Given the description of an element on the screen output the (x, y) to click on. 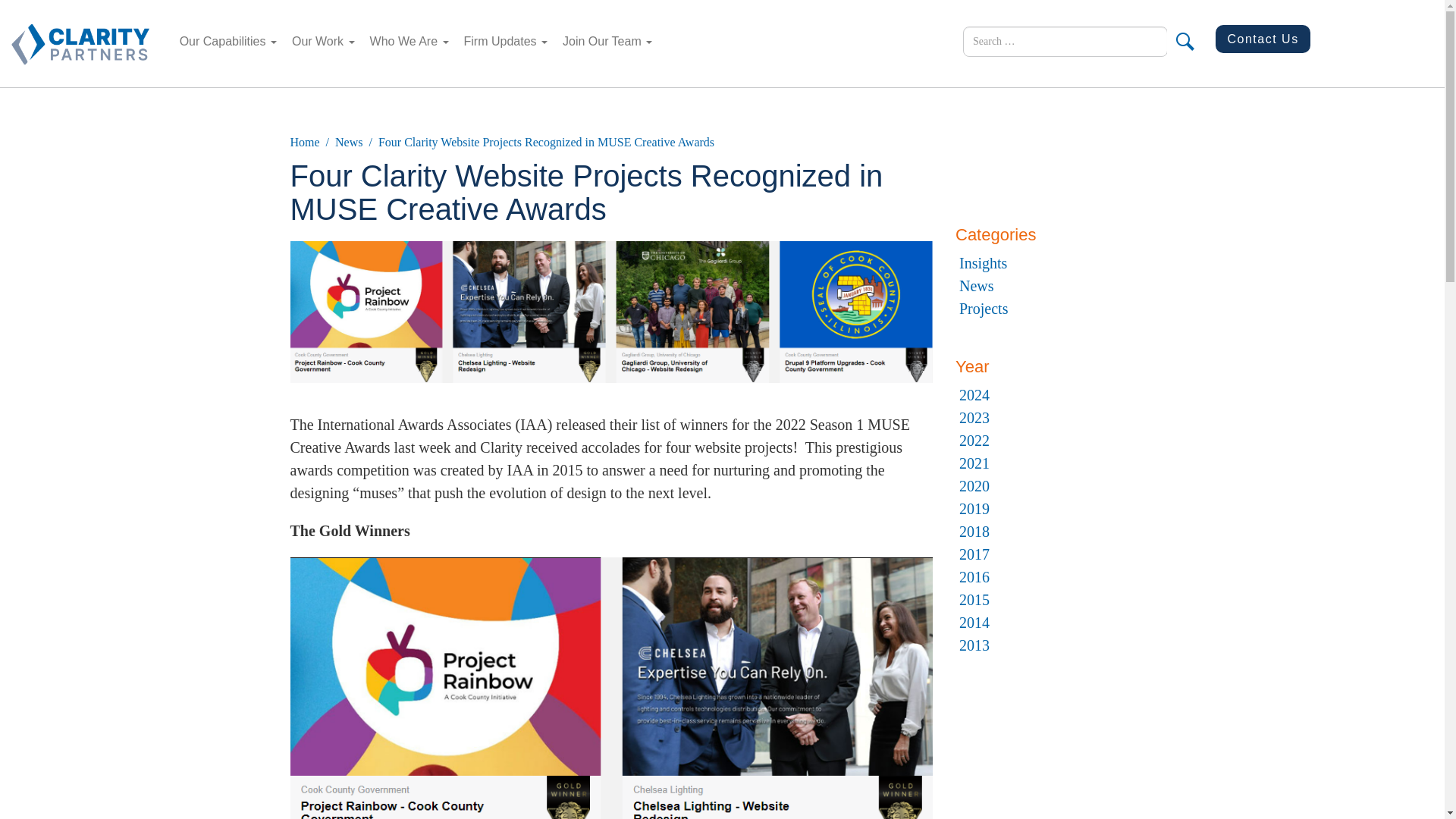
Who We Are (409, 41)
Firm Updates (505, 41)
Search for: (1064, 41)
Our Capabilities (227, 41)
Contact Us (1261, 39)
Home (303, 141)
Join Our Team (606, 41)
News (348, 141)
Our Work (322, 41)
